Given the description of an element on the screen output the (x, y) to click on. 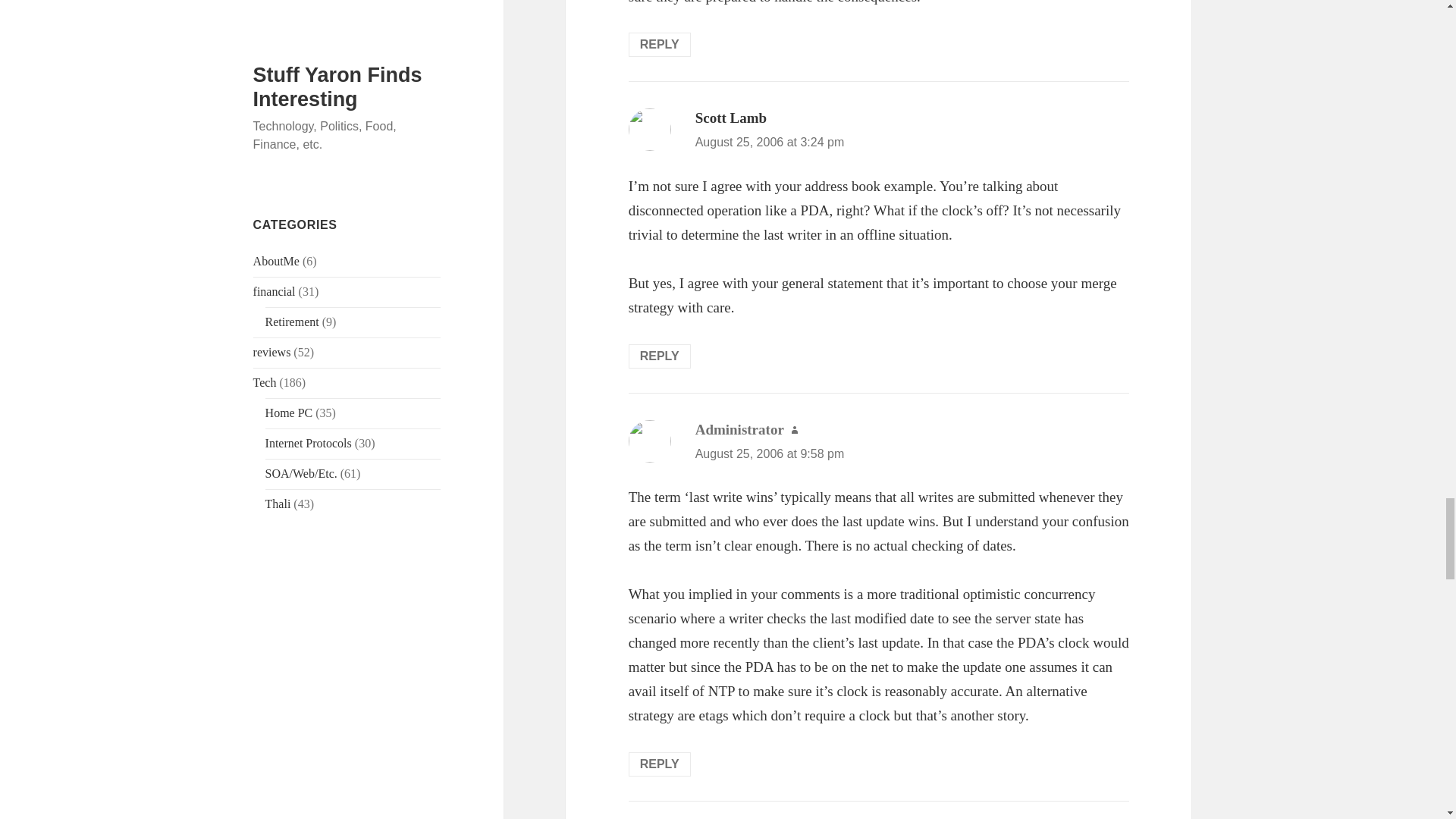
Scott Lamb (731, 117)
REPLY (659, 764)
REPLY (659, 355)
REPLY (659, 44)
August 25, 2006 at 3:24 pm (769, 141)
August 25, 2006 at 9:58 pm (769, 453)
